Given the description of an element on the screen output the (x, y) to click on. 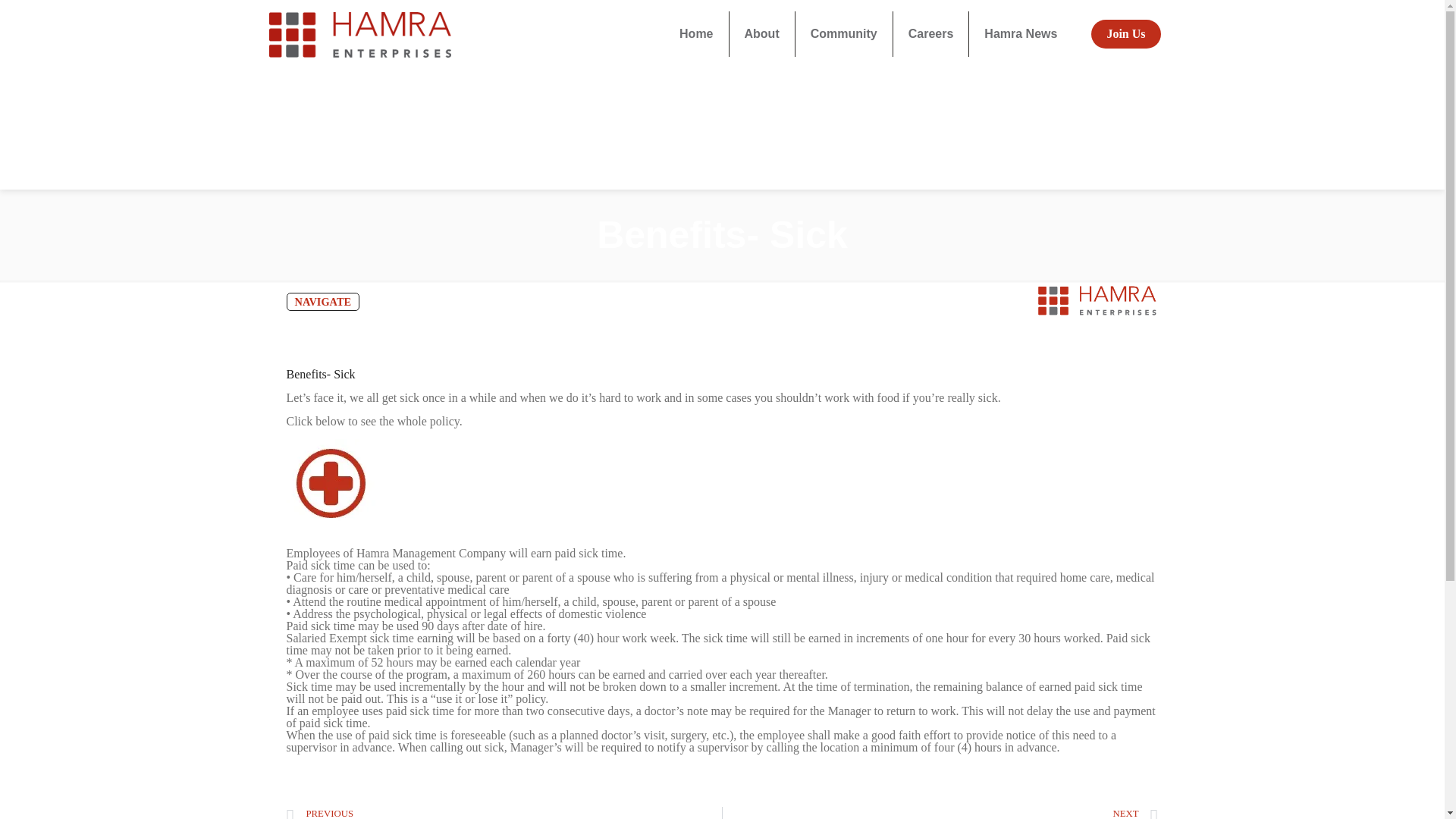
Hamra News (1020, 33)
Community (843, 33)
About (761, 33)
HAMRA (359, 33)
Home (696, 33)
Careers (931, 33)
